Given the description of an element on the screen output the (x, y) to click on. 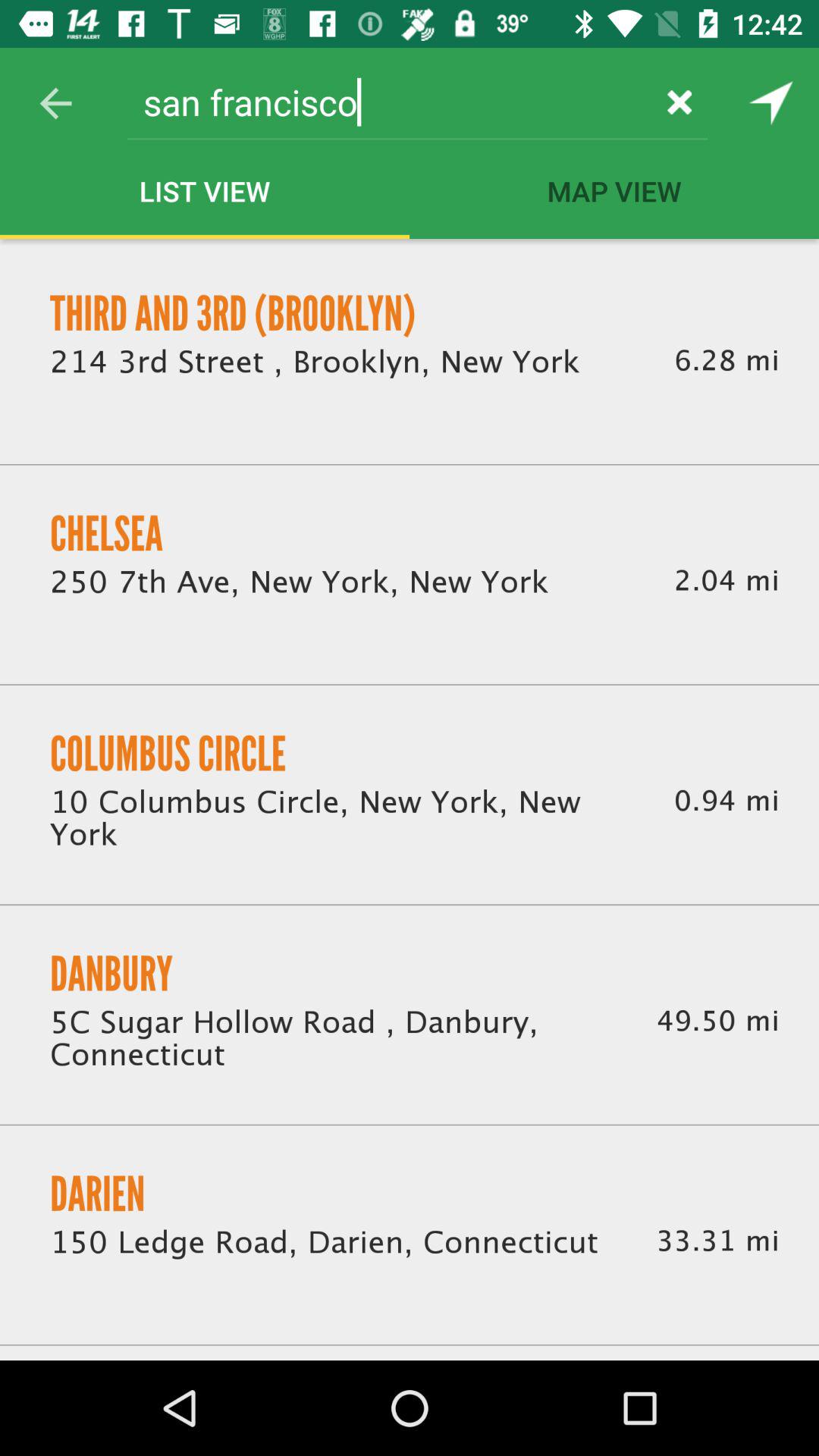
select the item above third and 3rd item (55, 103)
